Given the description of an element on the screen output the (x, y) to click on. 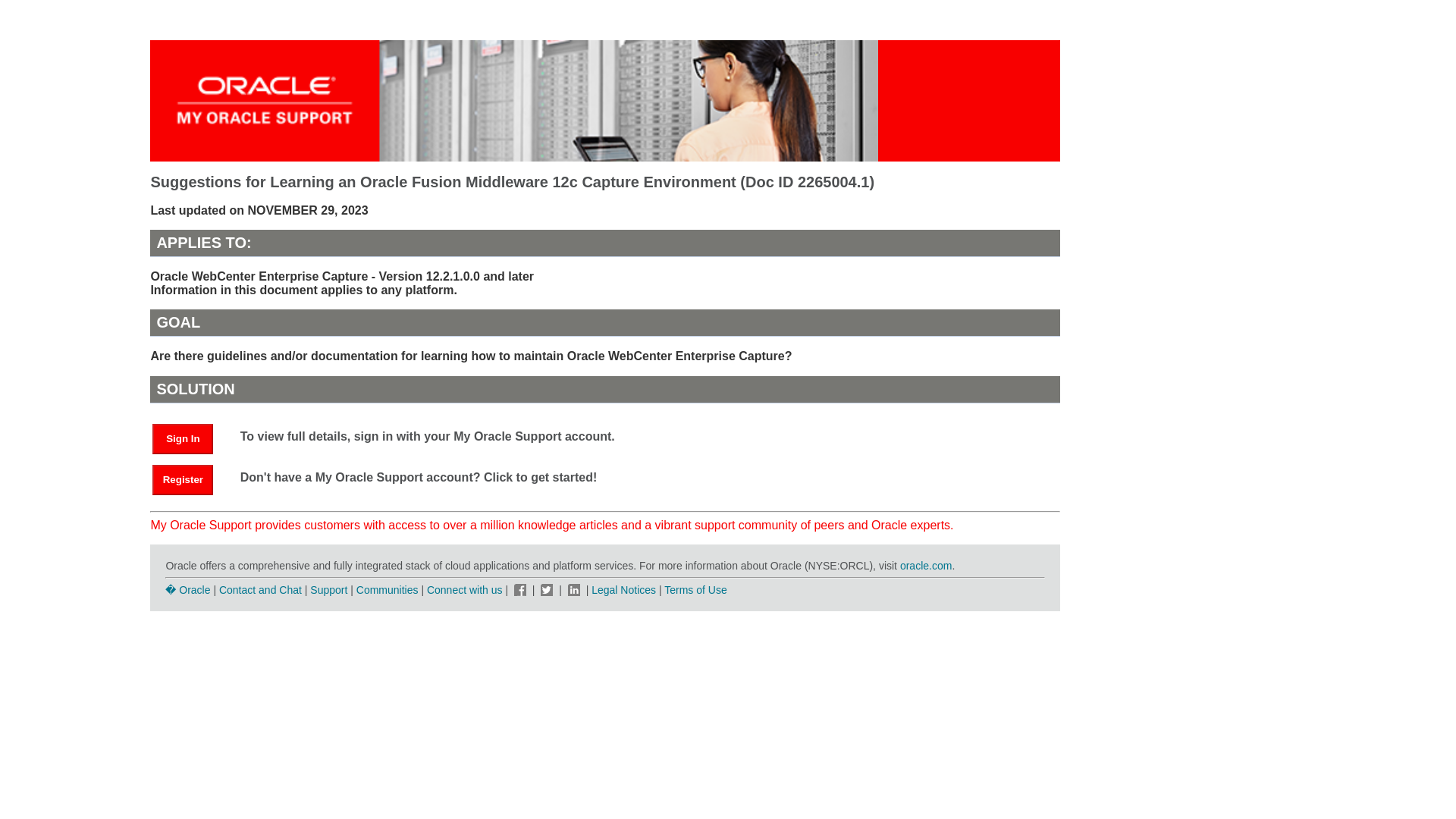
Contact and Chat (260, 589)
oracle.com (925, 565)
Register (182, 480)
Register (190, 478)
oracle.com (925, 565)
Communities (387, 589)
Support (328, 589)
Legal Notices (623, 589)
Sign In (182, 439)
Sign In (190, 437)
